Given the description of an element on the screen output the (x, y) to click on. 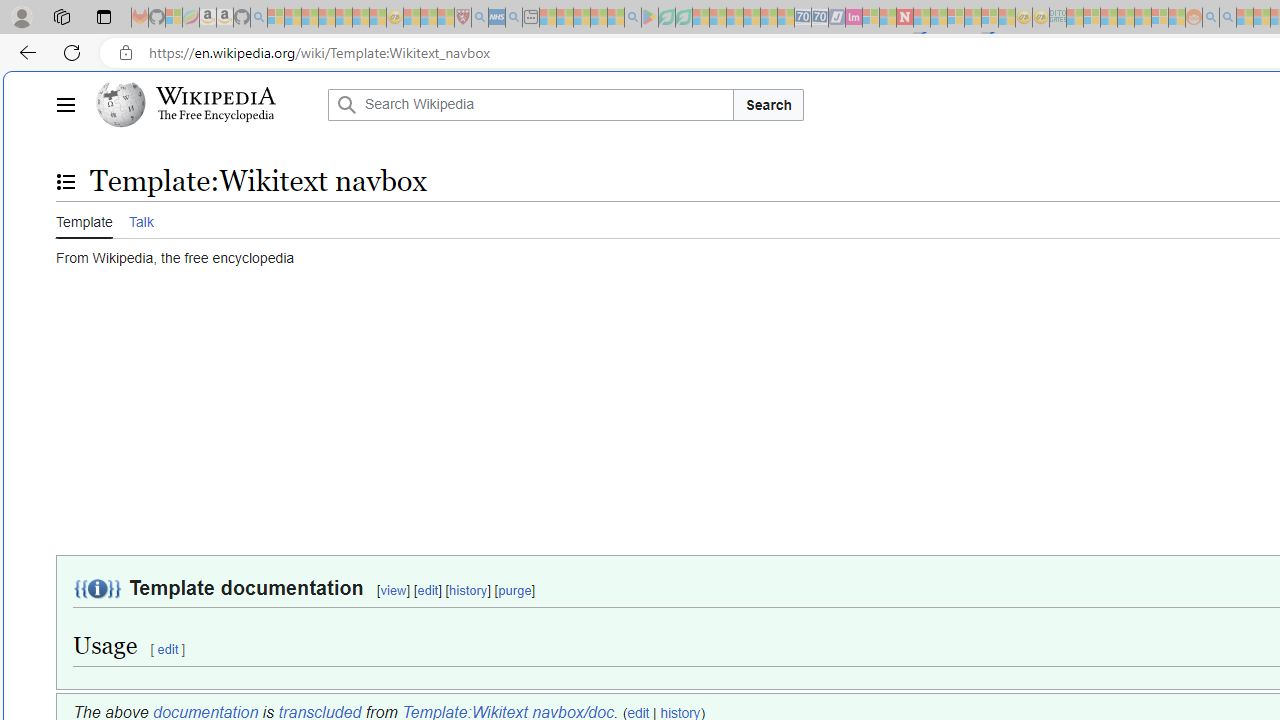
history (468, 591)
Talk (140, 219)
purge (514, 591)
